Given the description of an element on the screen output the (x, y) to click on. 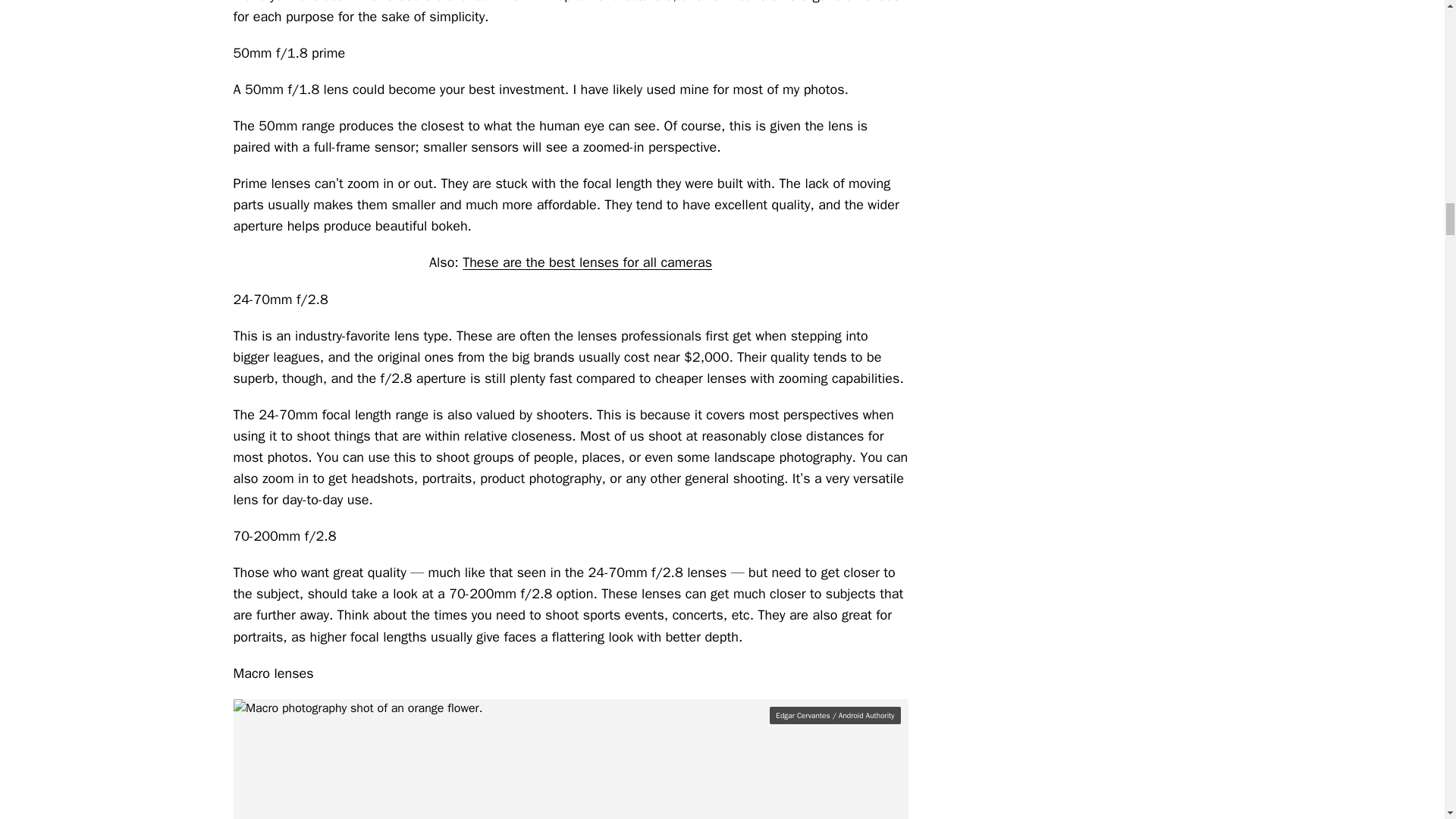
Macro photography flower sample shot 1 (570, 759)
These are the best lenses for all cameras (587, 262)
